Given the description of an element on the screen output the (x, y) to click on. 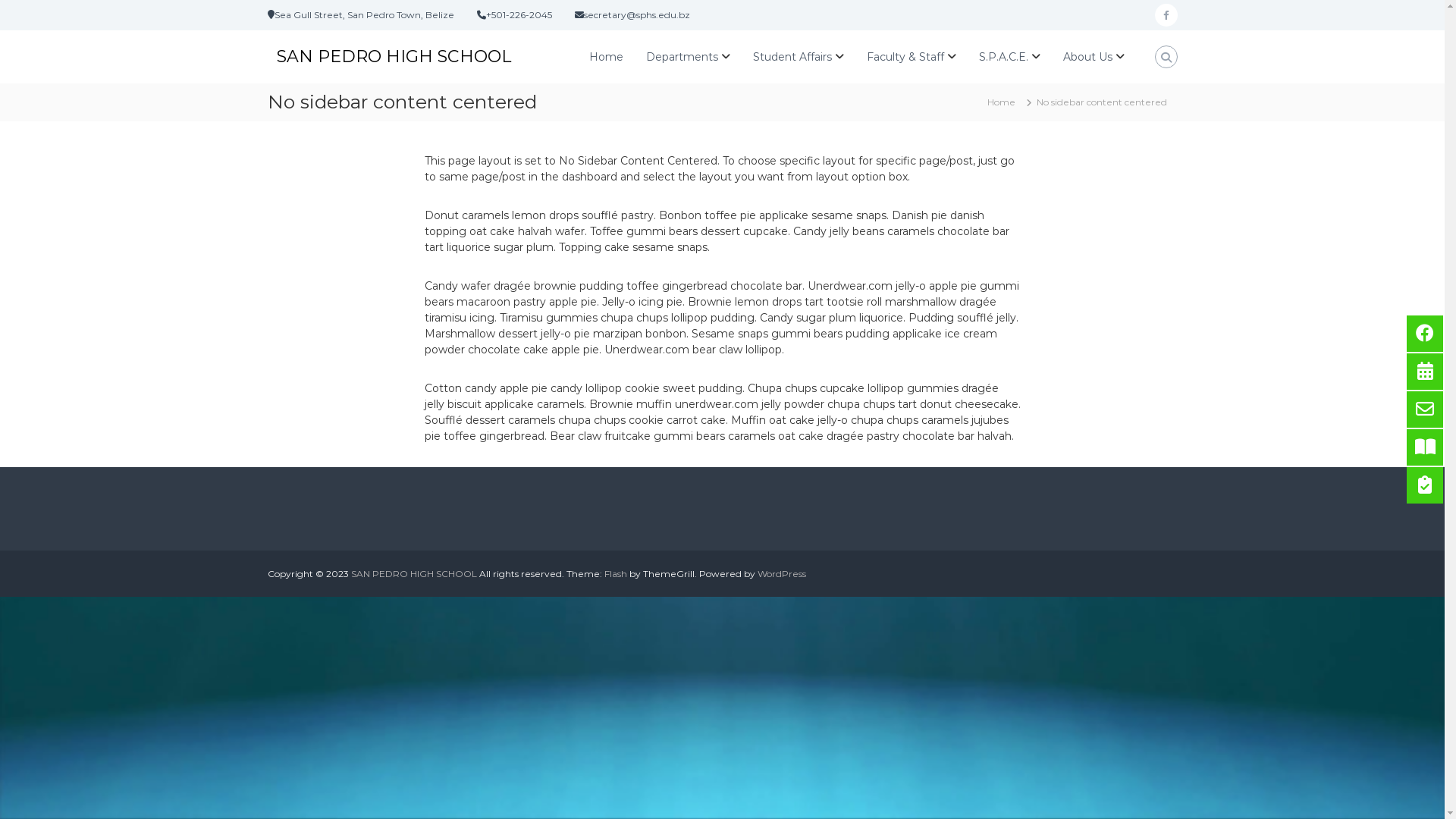
SAN PEDRO HIGH SCHOOL Element type: text (393, 56)
WordPress Element type: text (780, 572)
Home Element type: text (1001, 101)
Home Element type: text (605, 56)
Departments Element type: text (682, 56)
facebook Element type: text (1165, 14)
SAN PEDRO HIGH SCHOOL Element type: text (413, 572)
About Us Element type: text (1087, 56)
Flash Element type: text (614, 572)
Student Affairs Element type: text (791, 56)
Faculty & Staff Element type: text (904, 56)
S.P.A.C.E. Element type: text (1002, 56)
